Given the description of an element on the screen output the (x, y) to click on. 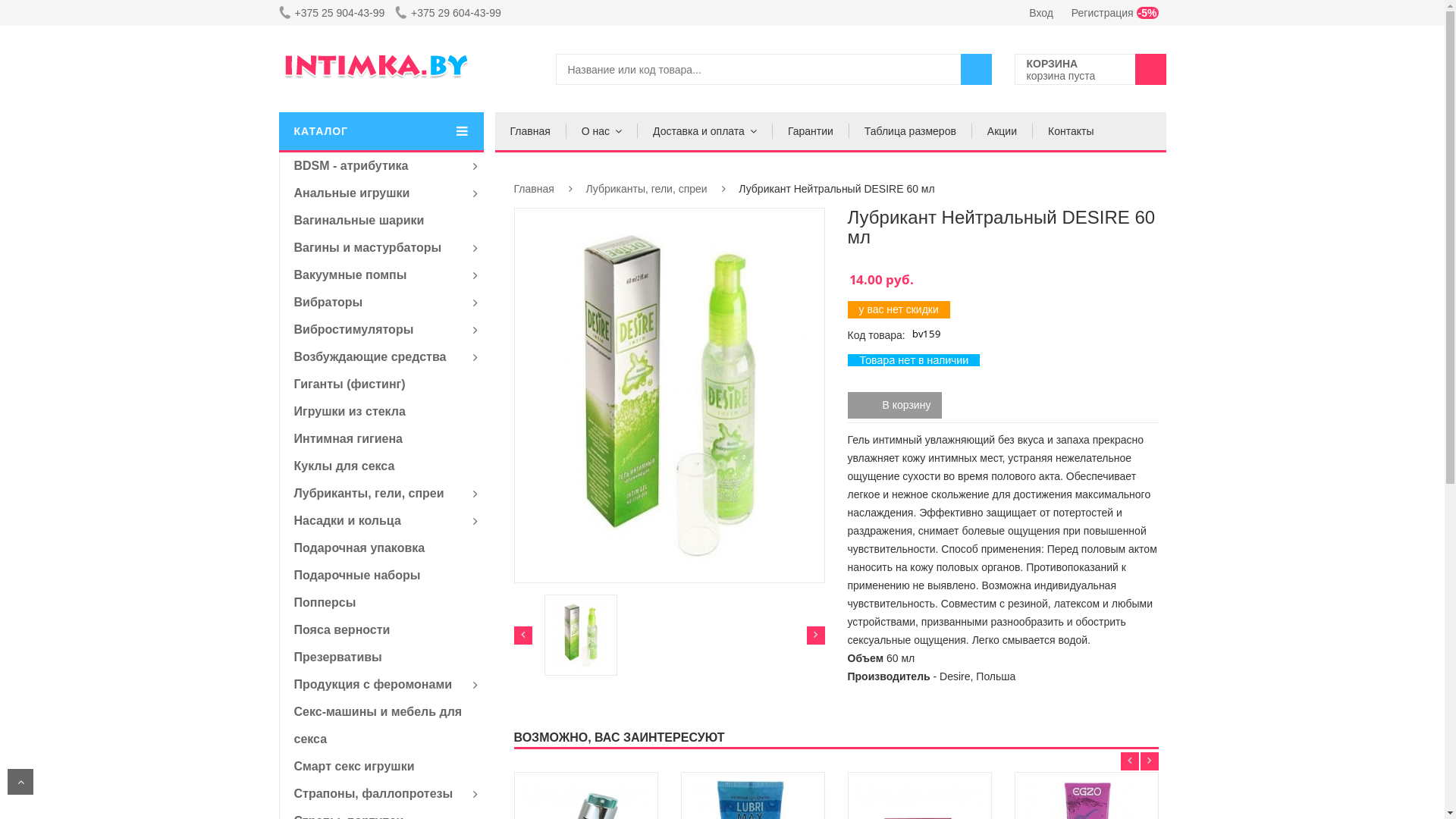
+375 25 904-43-99 Element type: text (335, 12)
+375 29 604-43-99 Element type: text (451, 12)
